Given the description of an element on the screen output the (x, y) to click on. 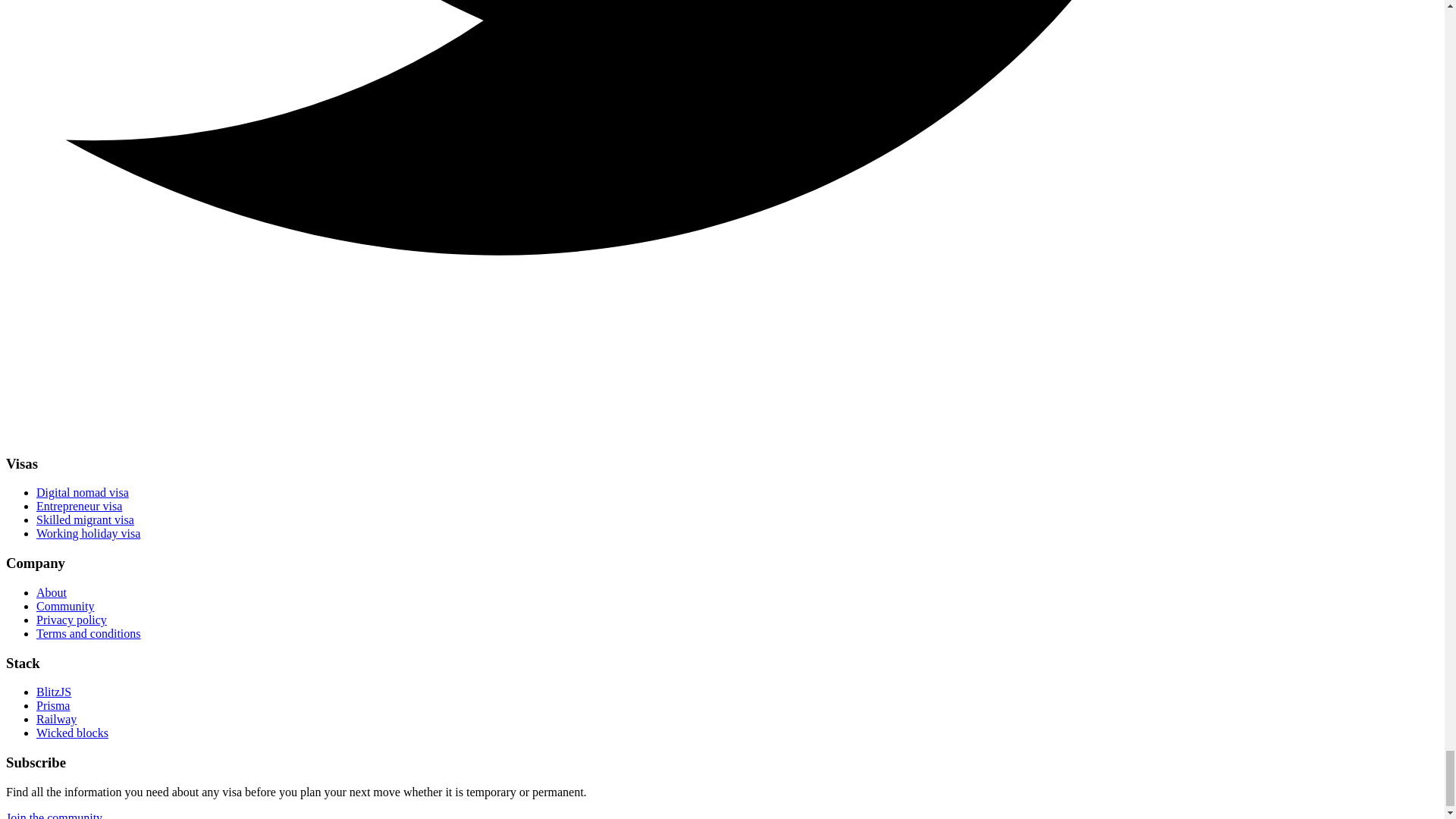
BlitzJS (53, 691)
Skilled migrant visa (84, 519)
Digital nomad visa (82, 492)
Terms and conditions (88, 633)
Wicked blocks (71, 732)
Privacy policy (71, 619)
Working holiday visa (87, 533)
Entrepreneur visa (79, 505)
Community (65, 605)
Railway (56, 718)
